Given the description of an element on the screen output the (x, y) to click on. 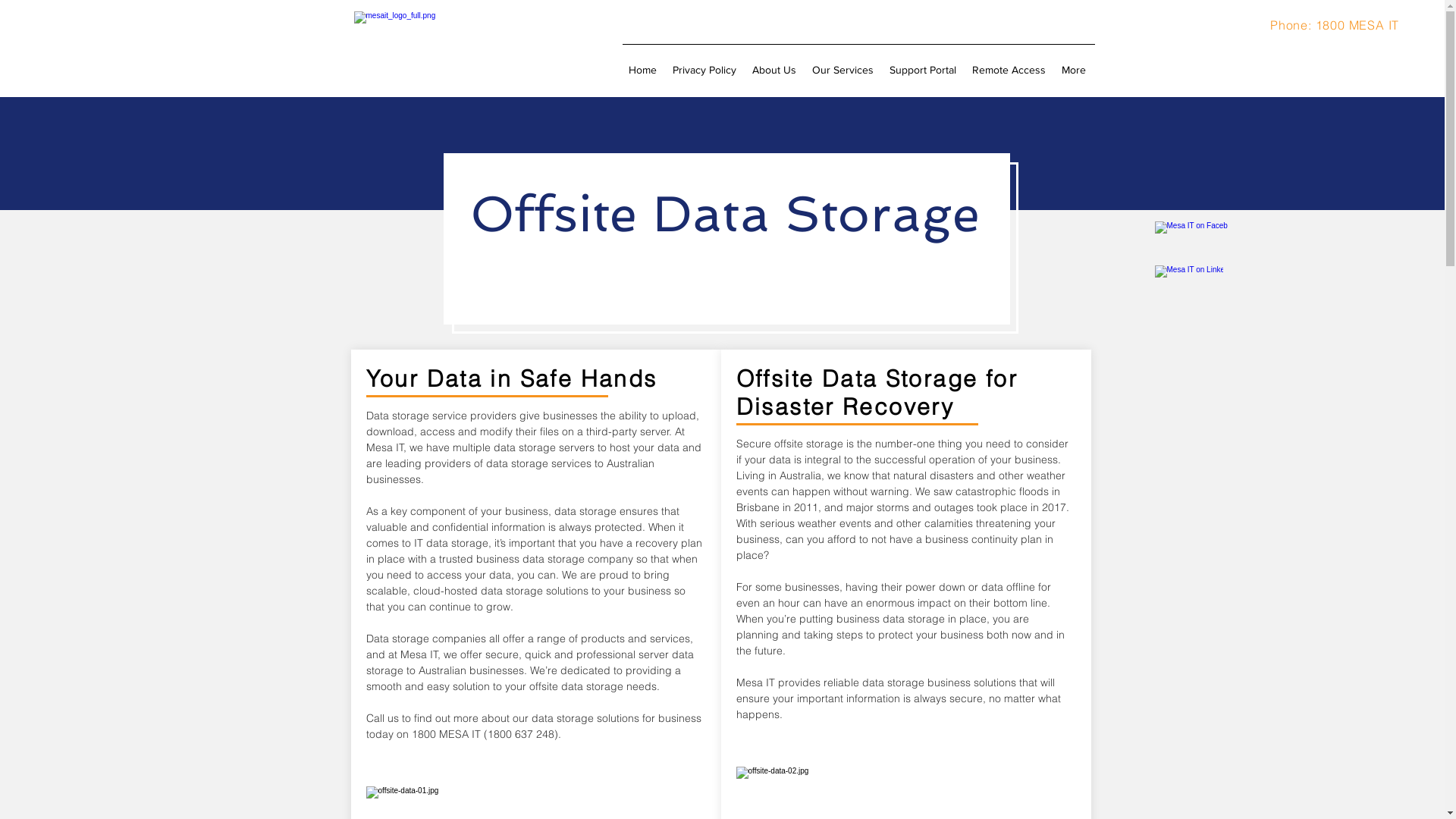
Remote Access Element type: text (1010, 62)
Support Portal Element type: text (923, 62)
Home Element type: text (643, 62)
Privacy Policy Element type: text (705, 62)
About Us Element type: text (776, 62)
